Given the description of an element on the screen output the (x, y) to click on. 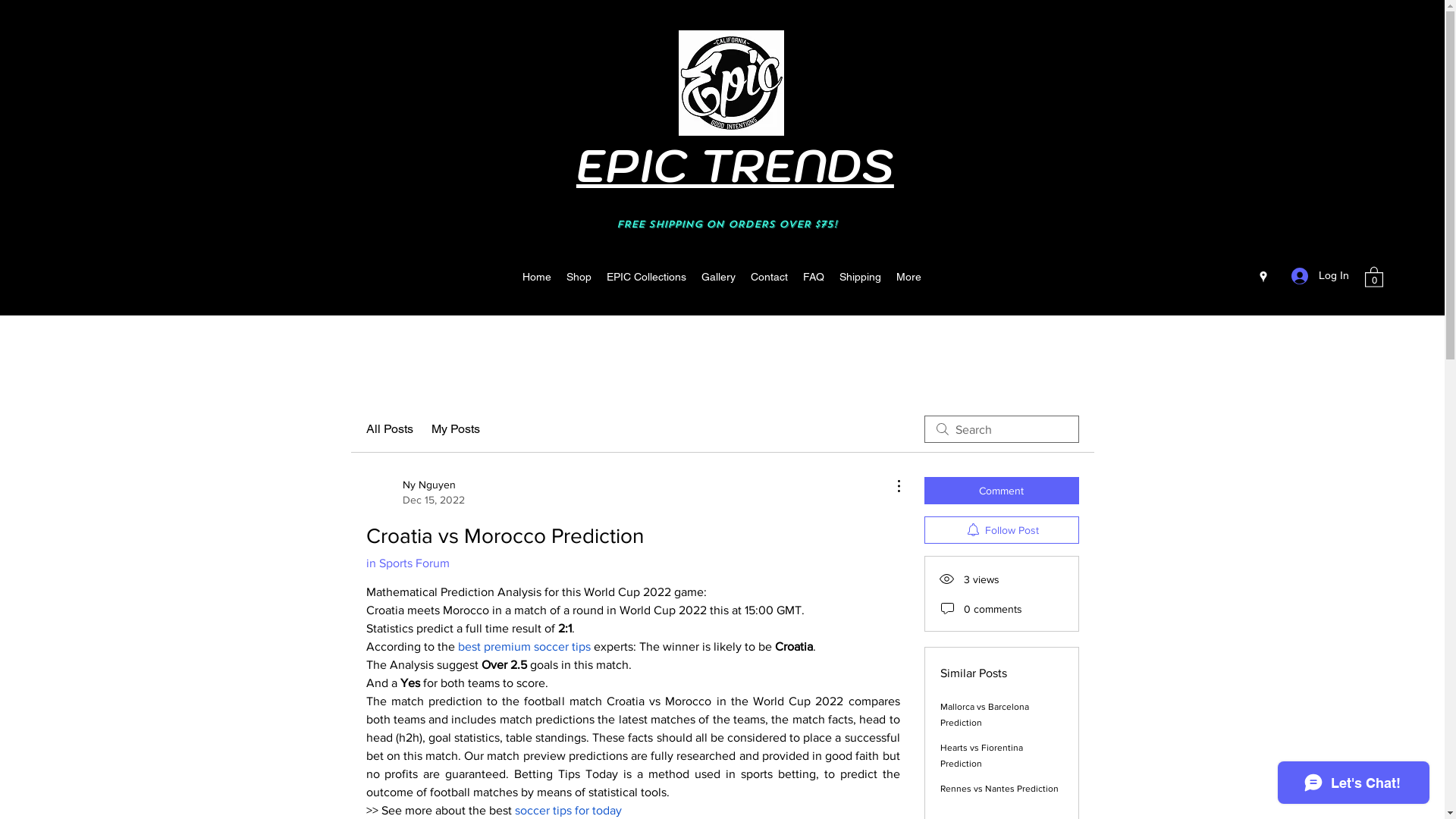
Mallorca vs Barcelona Prediction Element type: text (984, 714)
soccer tips for today Element type: text (567, 809)
Comment Element type: text (1000, 490)
Shipping Element type: text (859, 276)
Ny Nguyen
Dec 15, 2022 Element type: text (414, 491)
Shop Element type: text (578, 276)
Log In Element type: text (1319, 275)
Rennes vs Nantes Prediction Element type: text (999, 788)
0 Element type: text (1374, 276)
best premium soccer tips Element type: text (524, 646)
Hearts vs Fiorentina Prediction Element type: text (981, 755)
Follow Post Element type: text (1000, 529)
EPIC Collections Element type: text (646, 276)
FAQ Element type: text (813, 276)
All Posts Element type: text (388, 429)
in Sports Forum Element type: text (406, 562)
EPIC TRENDS Element type: text (735, 165)
Home Element type: text (536, 276)
My Posts Element type: text (454, 429)
Contact Element type: text (769, 276)
Gallery Element type: text (718, 276)
